Given the description of an element on the screen output the (x, y) to click on. 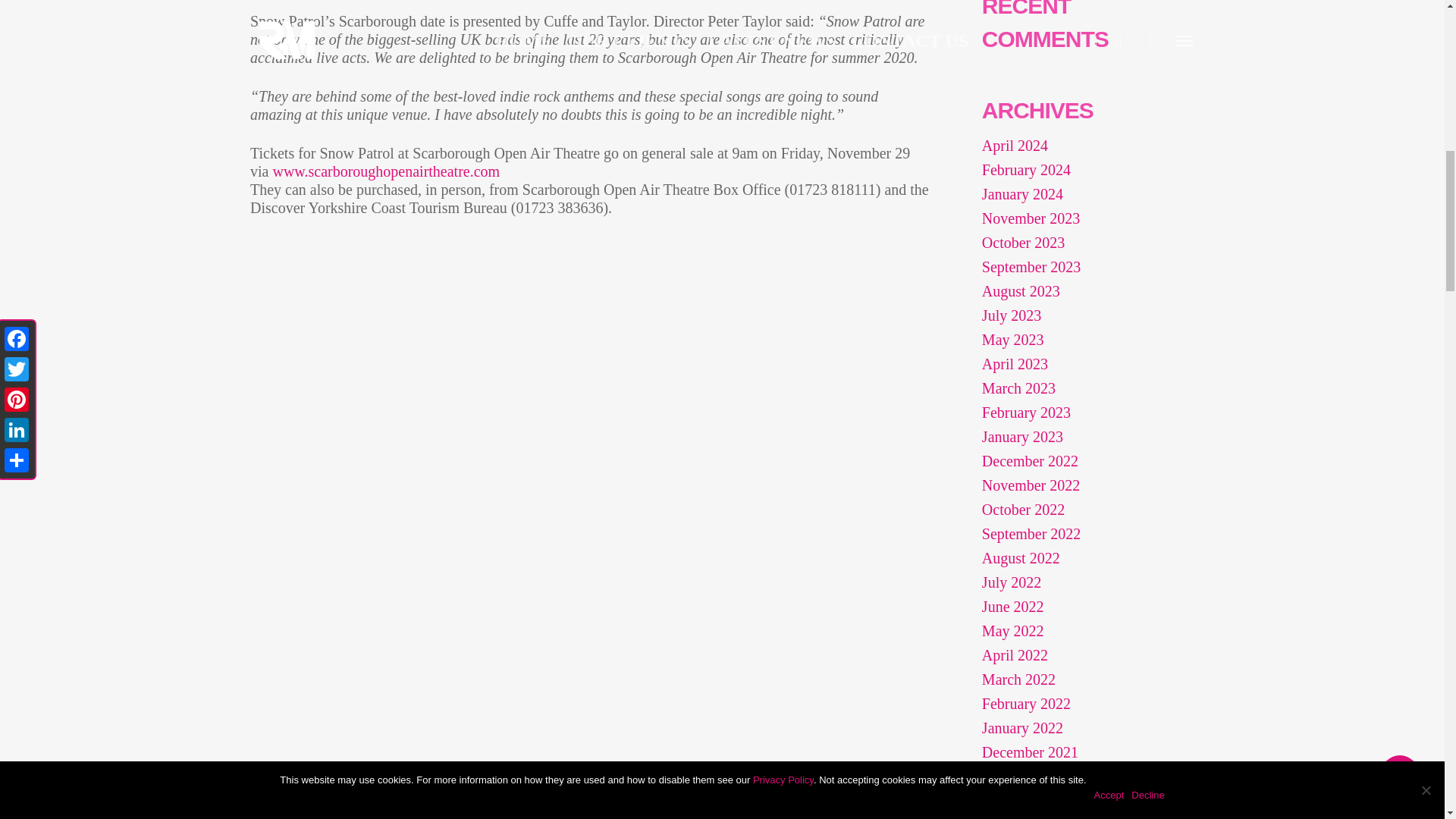
March 2023 (1083, 388)
January 2024 (1083, 194)
September 2023 (1083, 266)
May 2023 (1083, 339)
August 2023 (1083, 290)
February 2023 (1083, 412)
April 2024 (1083, 145)
December 2022 (1083, 461)
July 2023 (1083, 315)
February 2024 (1083, 169)
November 2023 (1083, 218)
October 2022 (1083, 509)
www.scarboroughopenairtheatre.com (385, 170)
January 2023 (1083, 436)
November 2022 (1083, 484)
